Given the description of an element on the screen output the (x, y) to click on. 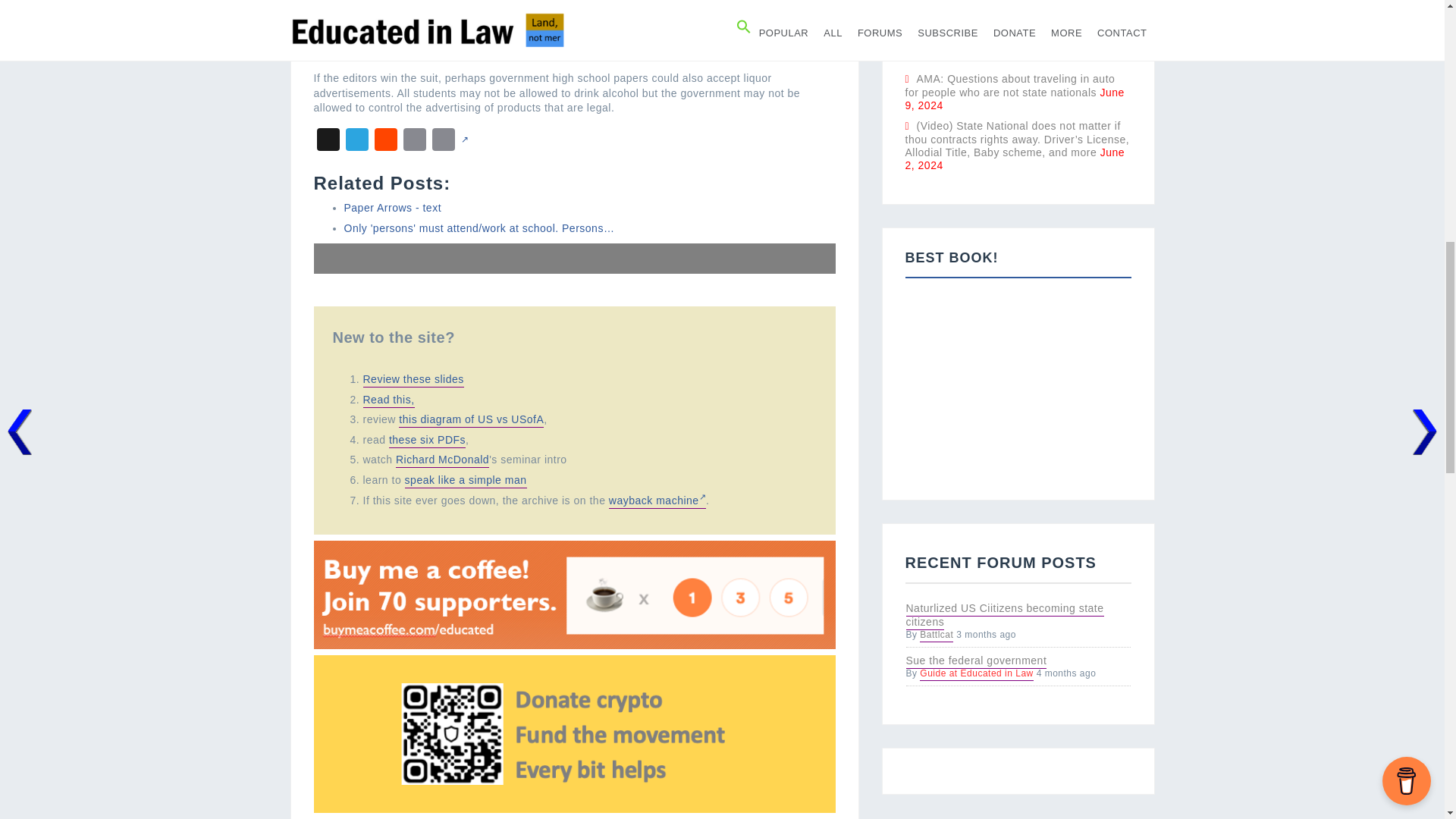
Naturlized US Ciitizens becoming state citizens (1004, 615)
Reddit (385, 142)
X (328, 142)
Telegram (356, 142)
Email (414, 142)
Battlcat (936, 635)
Copy Link (443, 142)
